Given the description of an element on the screen output the (x, y) to click on. 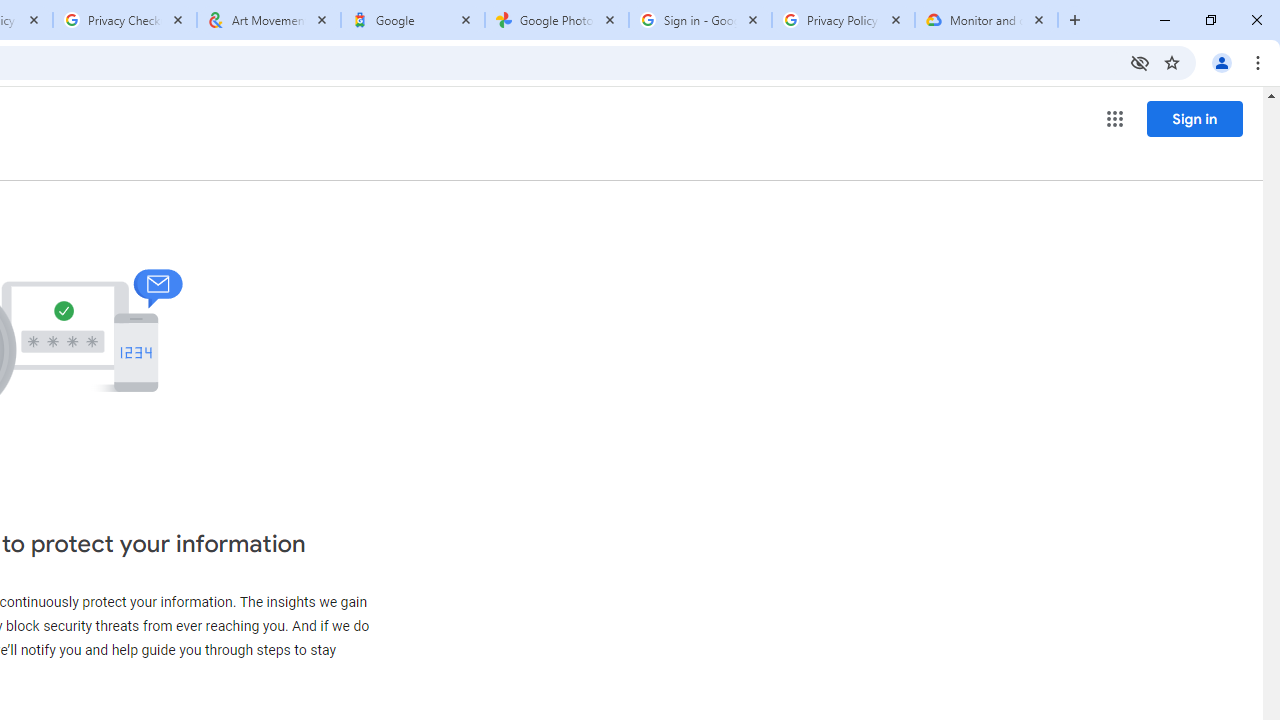
Google (412, 20)
Privacy Checkup (124, 20)
